Given the description of an element on the screen output the (x, y) to click on. 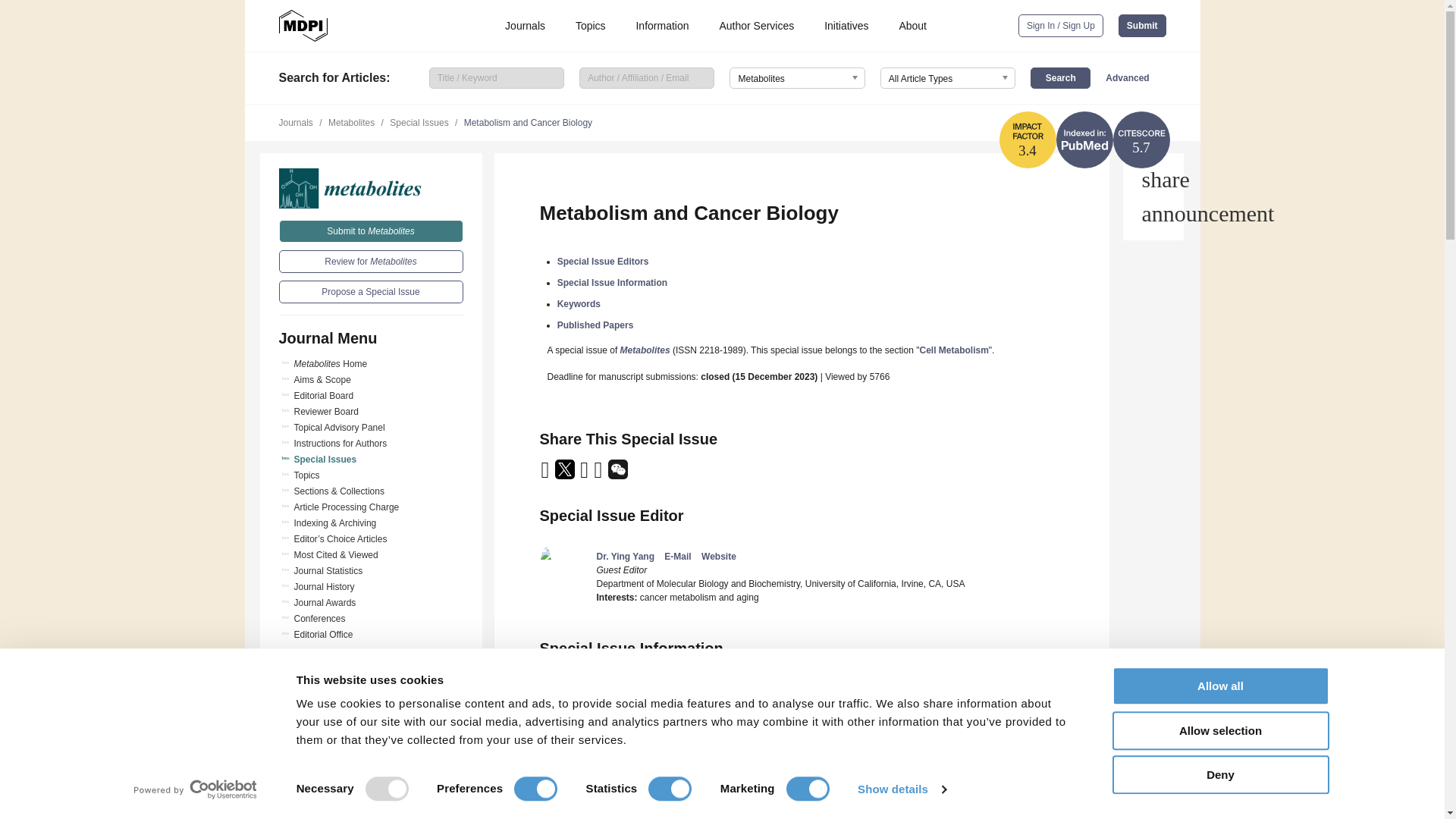
Search (1060, 77)
Search (1060, 77)
Go (371, 754)
Show details (900, 789)
